Given the description of an element on the screen output the (x, y) to click on. 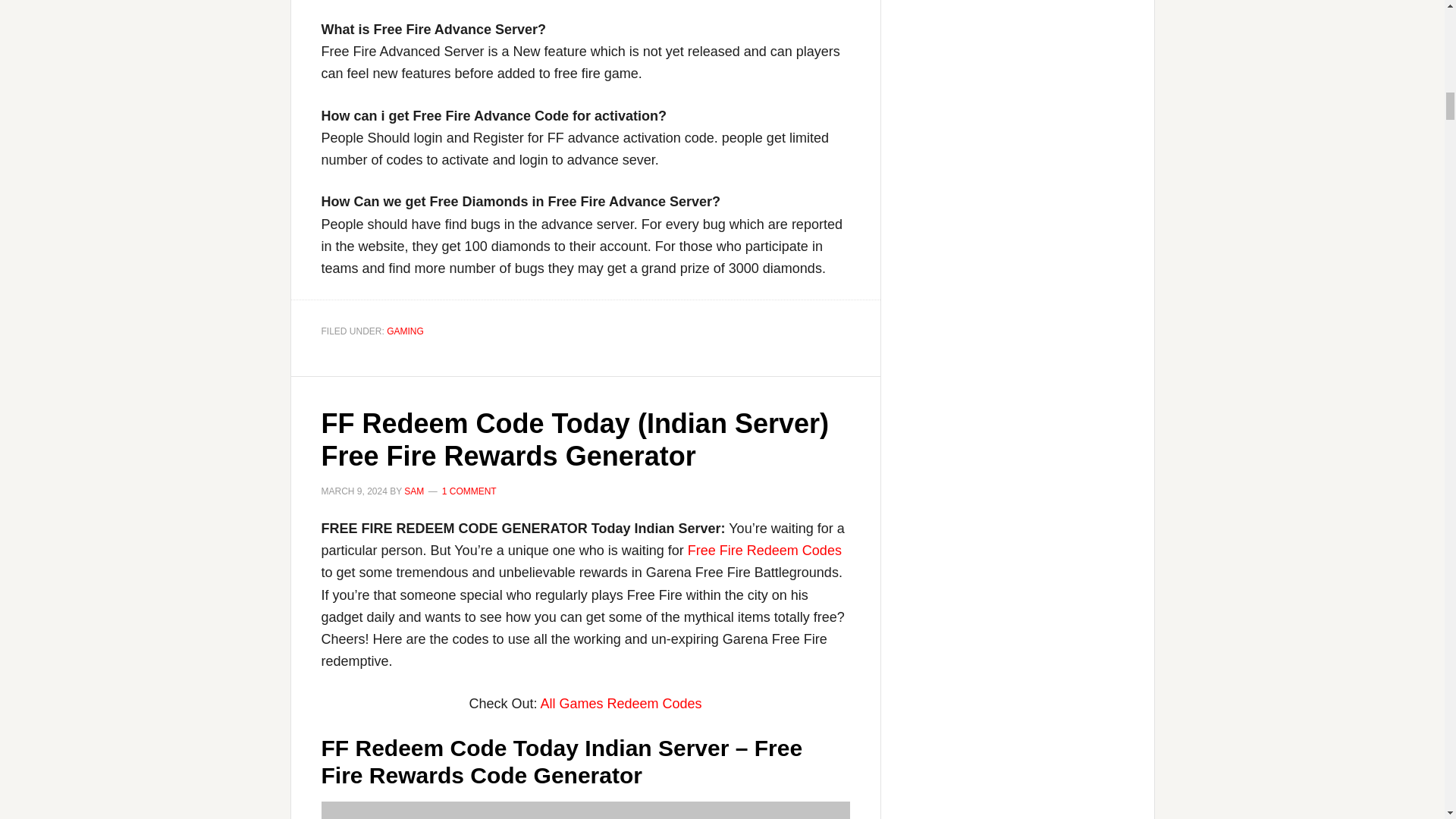
SAM (413, 491)
All Games Redeem Codes (620, 703)
GAMING (405, 330)
1 COMMENT (469, 491)
Free Fire Redeem Codes (764, 549)
